Given the description of an element on the screen output the (x, y) to click on. 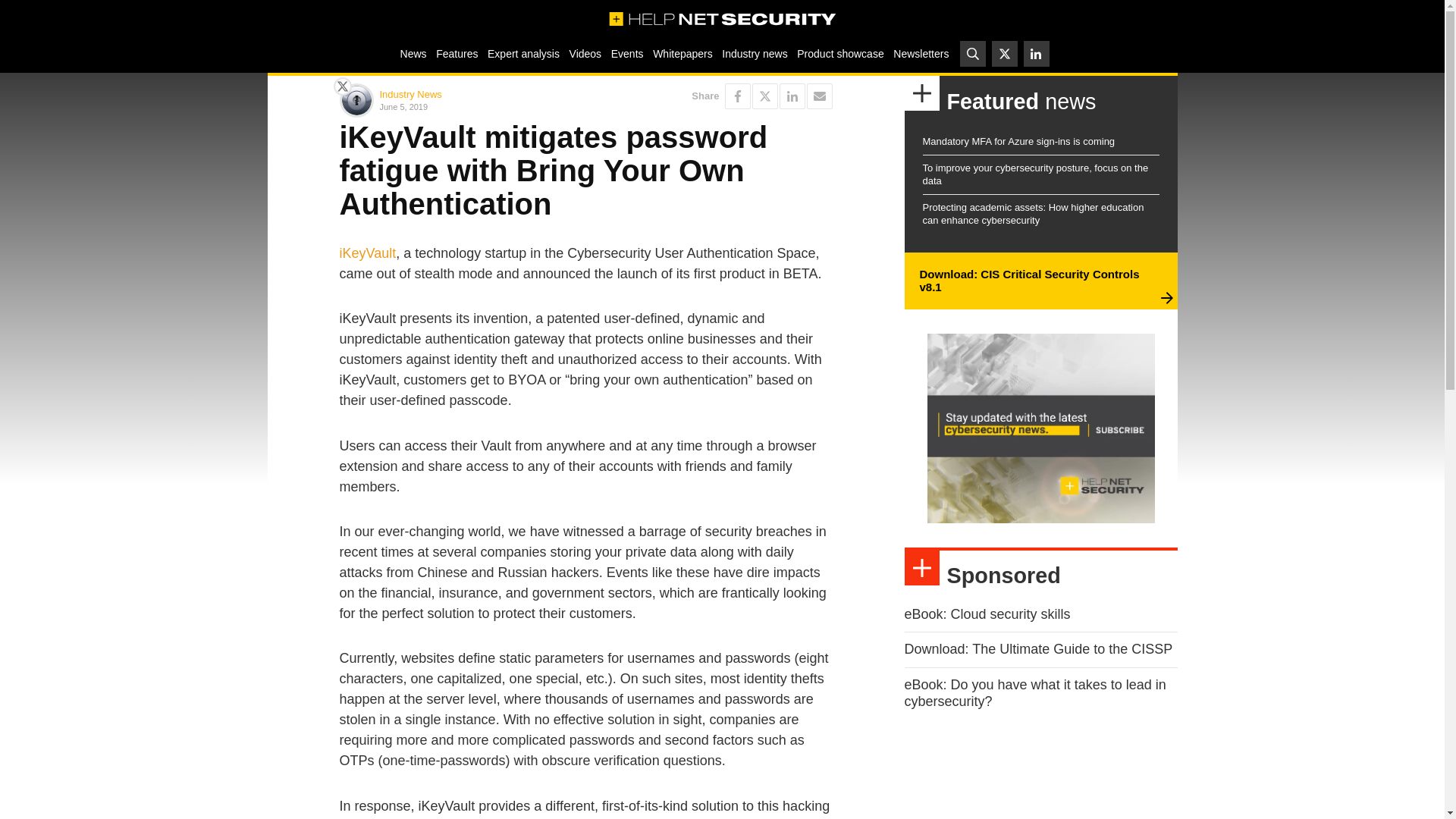
Download: The Ultimate Guide to the CISSP (1038, 648)
Features (456, 53)
eBook: Do you have what it takes to lead in cybersecurity? (1035, 693)
Events (626, 53)
Expert analysis (523, 53)
Mandatory MFA for Azure sign-ins is coming (1018, 141)
